Given the description of an element on the screen output the (x, y) to click on. 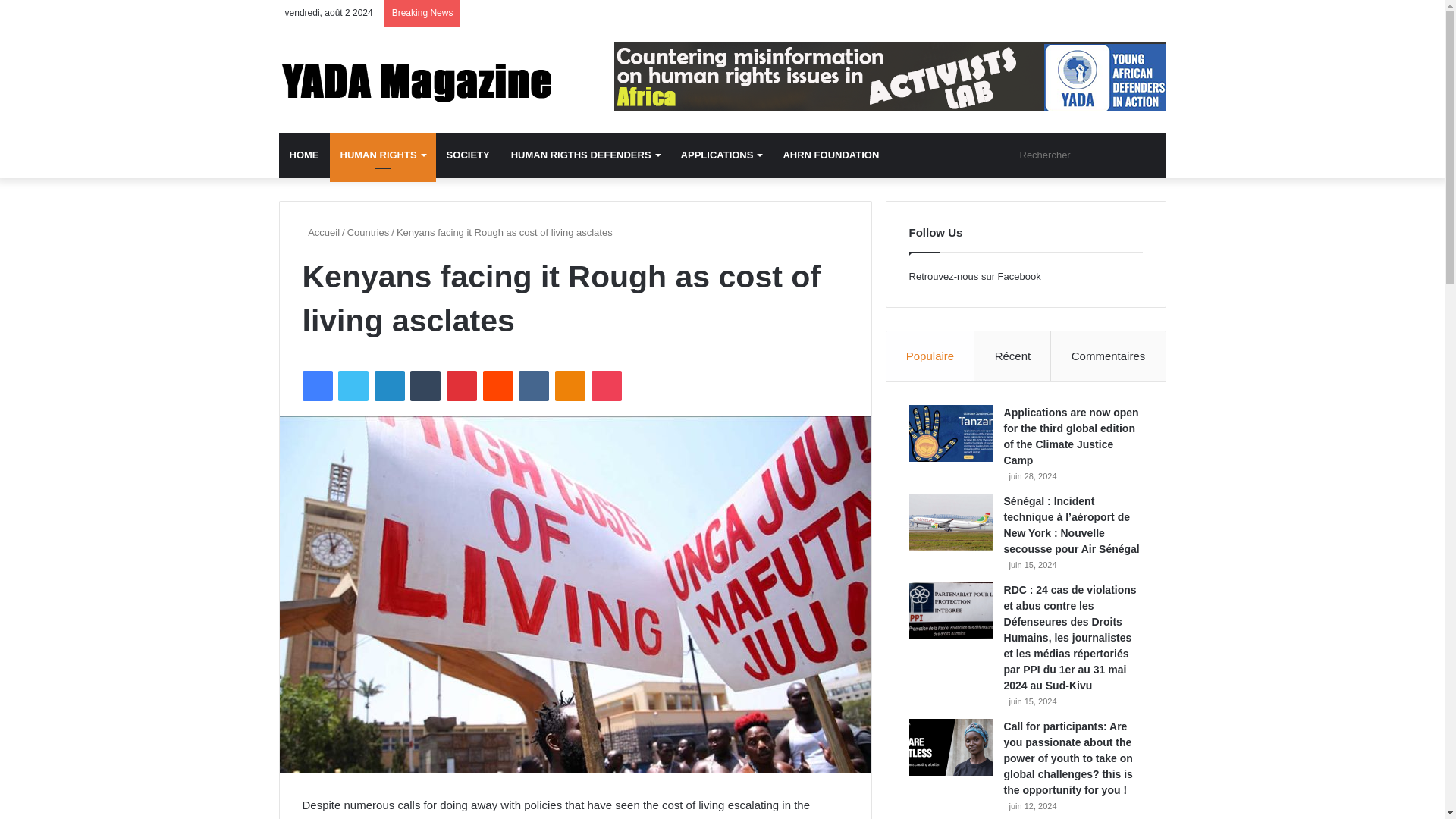
Reddit (498, 386)
Tumblr (425, 386)
VKontakte (533, 386)
Pinterest (461, 386)
Odnoklassniki (569, 386)
HOME (304, 155)
HUMAN RIGHTS (382, 155)
YADA Magazine (419, 79)
Twitter (352, 386)
Rechercher (1088, 155)
Facebook (316, 386)
Linkedin (389, 386)
